Given the description of an element on the screen output the (x, y) to click on. 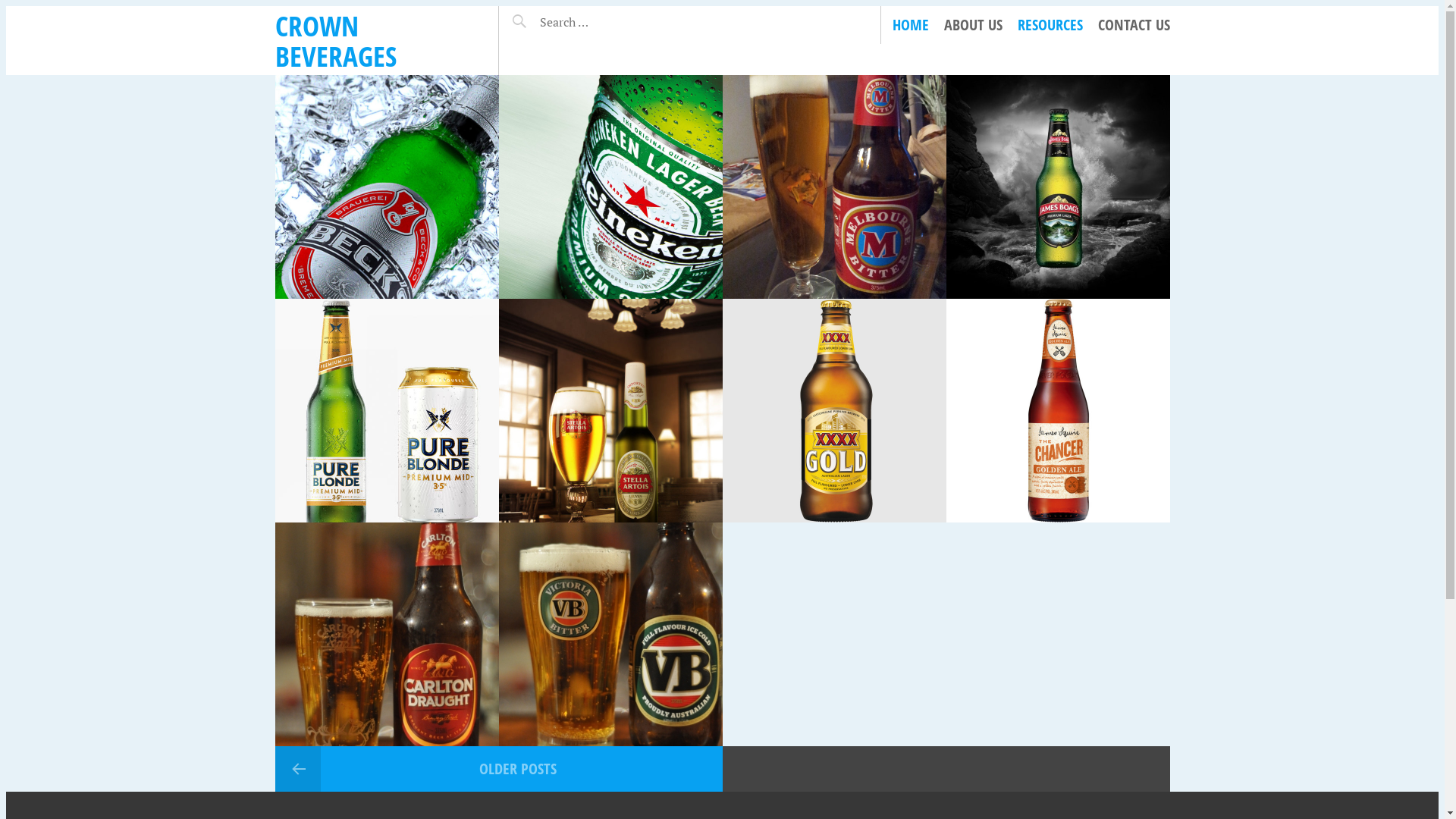
OLDER POSTS Element type: text (497, 768)
RESOURCES Element type: text (1049, 24)
HOME Element type: text (909, 24)
Victoria Bitter Element type: hover (610, 634)
CONTACT US Element type: text (1134, 24)
XXXX Gold Element type: hover (833, 410)
Heineken Element type: hover (610, 186)
Becks Element type: hover (386, 186)
CROWN BEVERAGES Element type: text (334, 40)
Pure Blonde Element type: hover (386, 410)
James Squires Element type: hover (1058, 410)
Carlton Draught Element type: hover (386, 634)
James Boags Element type: hover (1058, 186)
Melbourne Bitter Element type: hover (833, 186)
ABOUT US Element type: text (972, 24)
Stella Artois Element type: hover (610, 410)
Search Element type: text (537, 15)
